Given the description of an element on the screen output the (x, y) to click on. 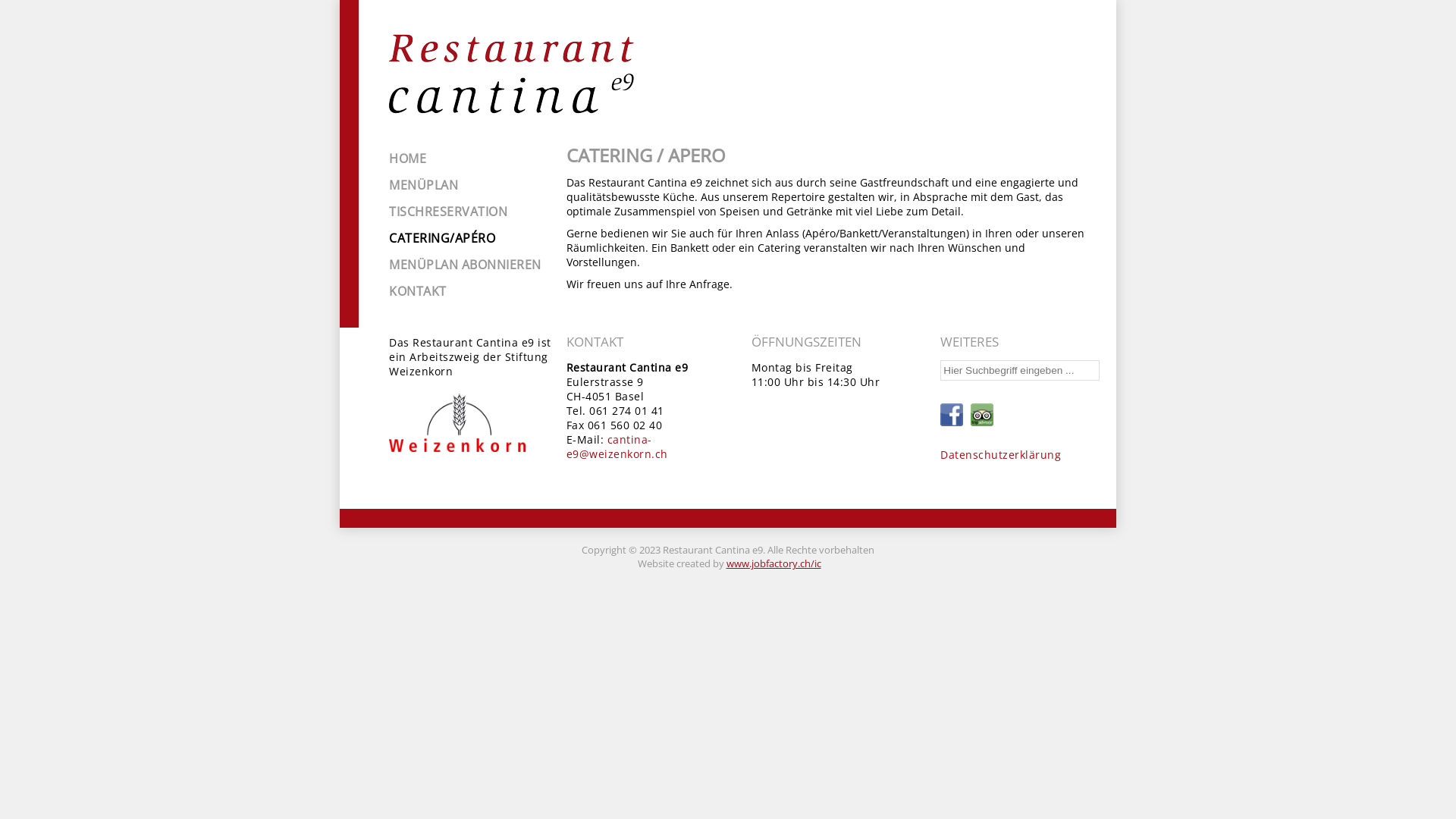
www.jobfactory.ch/ic Element type: text (773, 563)
cantina-e9@weizenkorn.ch Element type: text (617, 446)
TISCHRESERVATION Element type: text (471, 211)
HOME Element type: text (471, 158)
KONTAKT Element type: text (471, 290)
Ein Angebot von Weizenkorn im Jugend und Kulturzentrum E9 Element type: hover (457, 417)
